Given the description of an element on the screen output the (x, y) to click on. 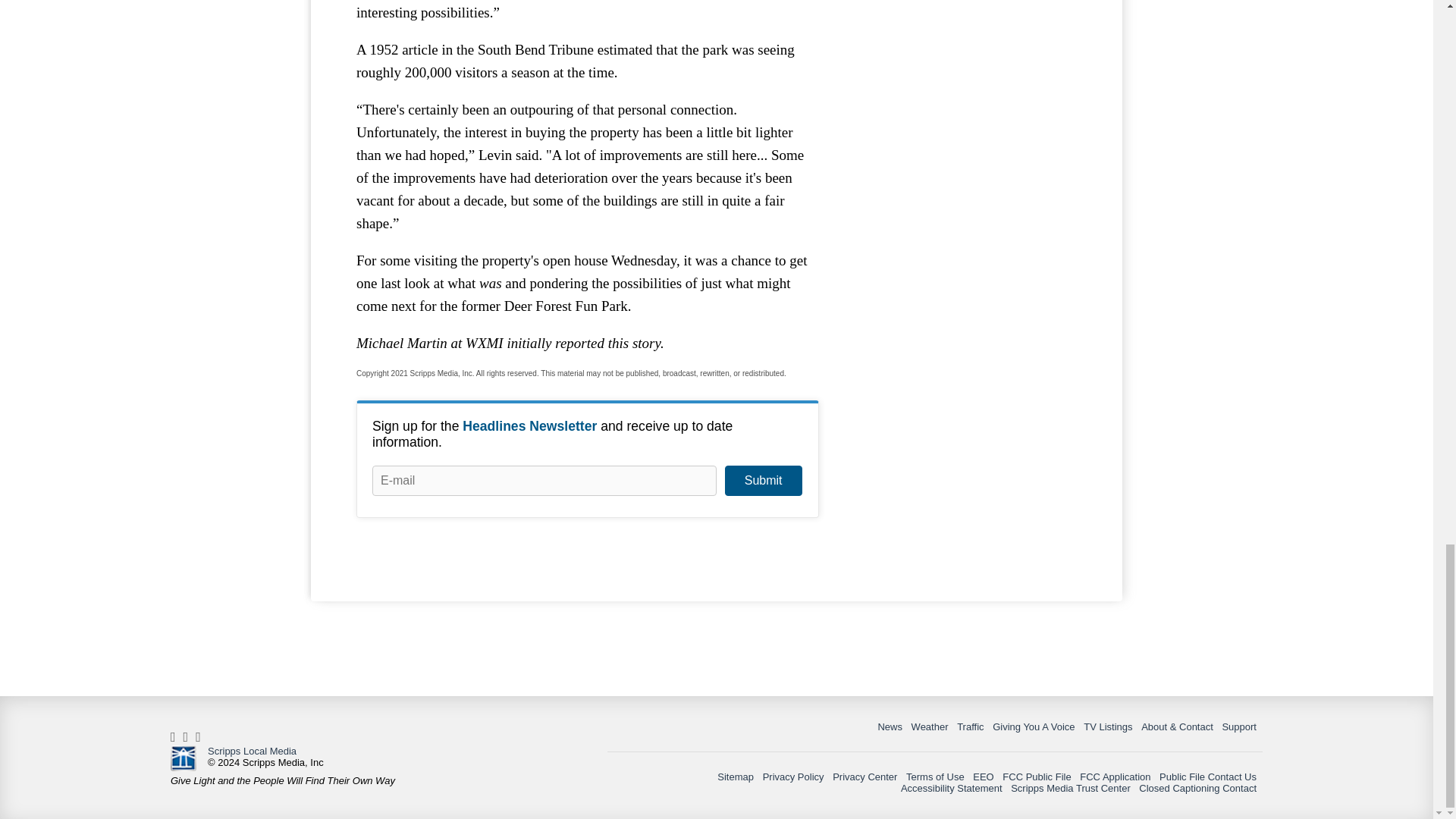
Submit (763, 481)
